Given the description of an element on the screen output the (x, y) to click on. 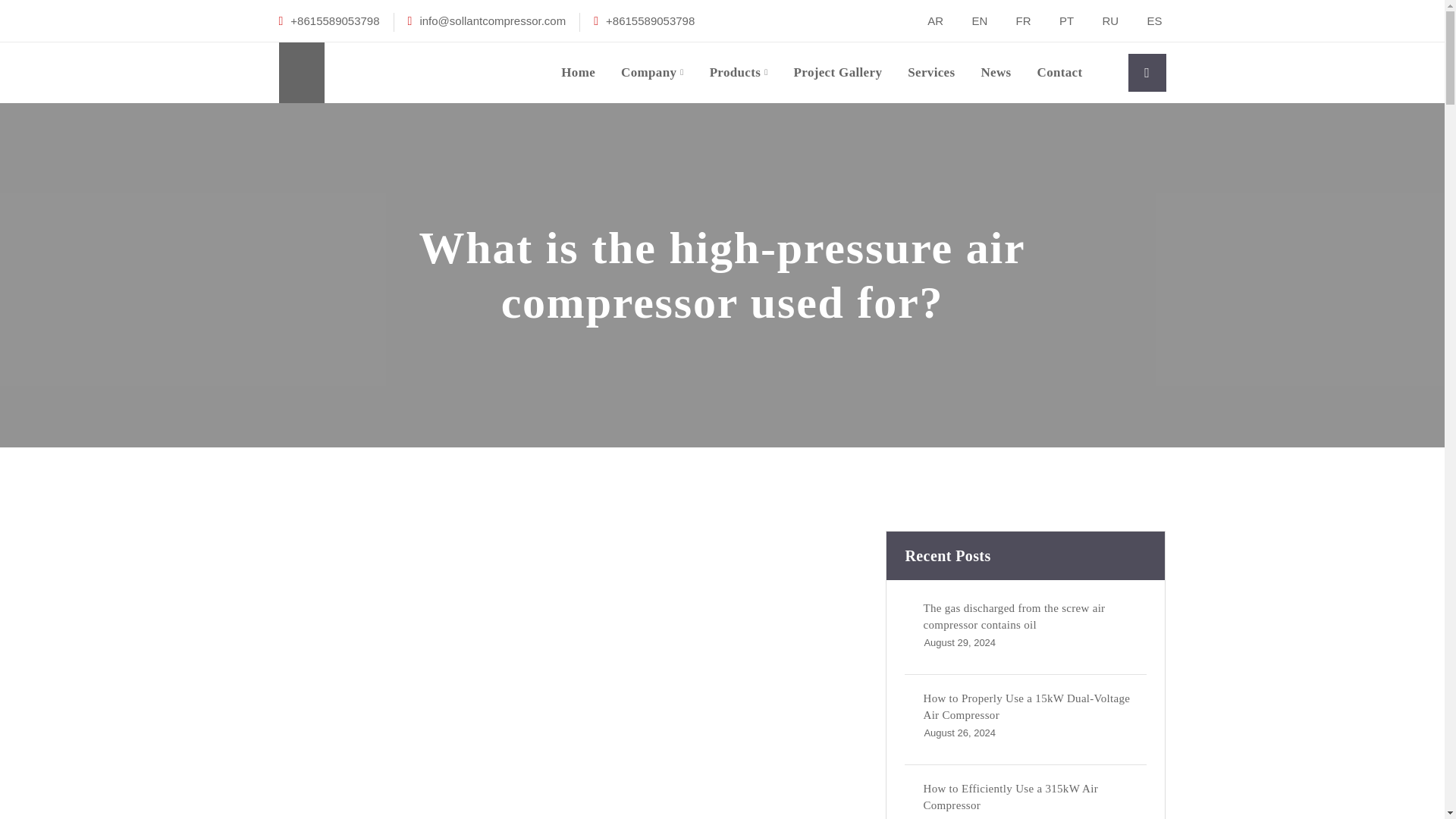
Arabic (926, 19)
English (970, 19)
ES (1145, 19)
Project Gallery (837, 72)
AR (926, 19)
Company (652, 72)
French (1013, 19)
Portuguese (1057, 19)
RU (1101, 19)
Spanish (1145, 19)
